Given the description of an element on the screen output the (x, y) to click on. 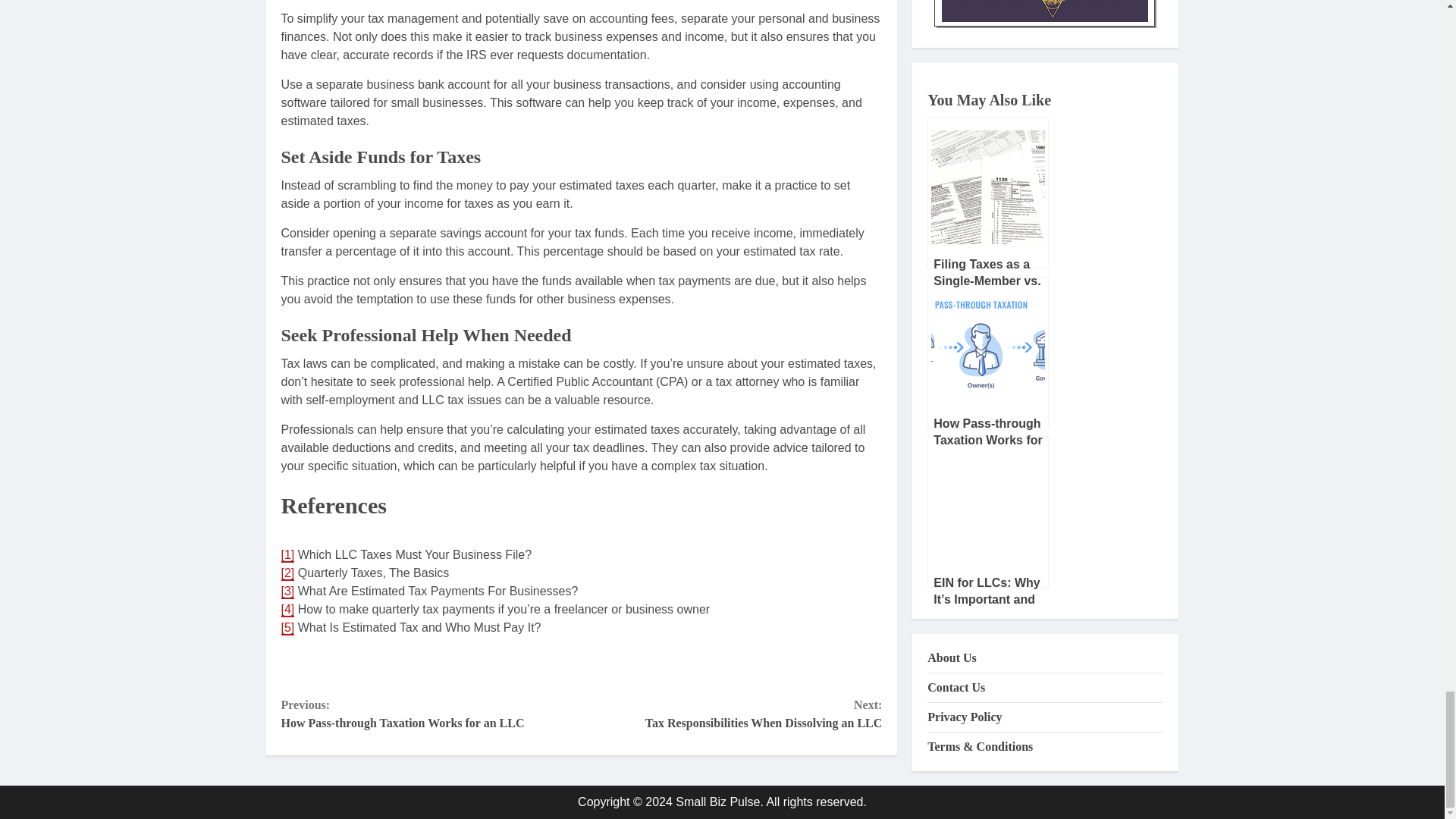
Check out our flickr feed (459, 666)
Follow us on Facebook (299, 666)
Find us on Linkedin (379, 666)
Check out our instagram feed (419, 666)
Contact Us (539, 666)
Check out our foursquare feed (499, 666)
Follow us on Twitter (339, 666)
